Given the description of an element on the screen output the (x, y) to click on. 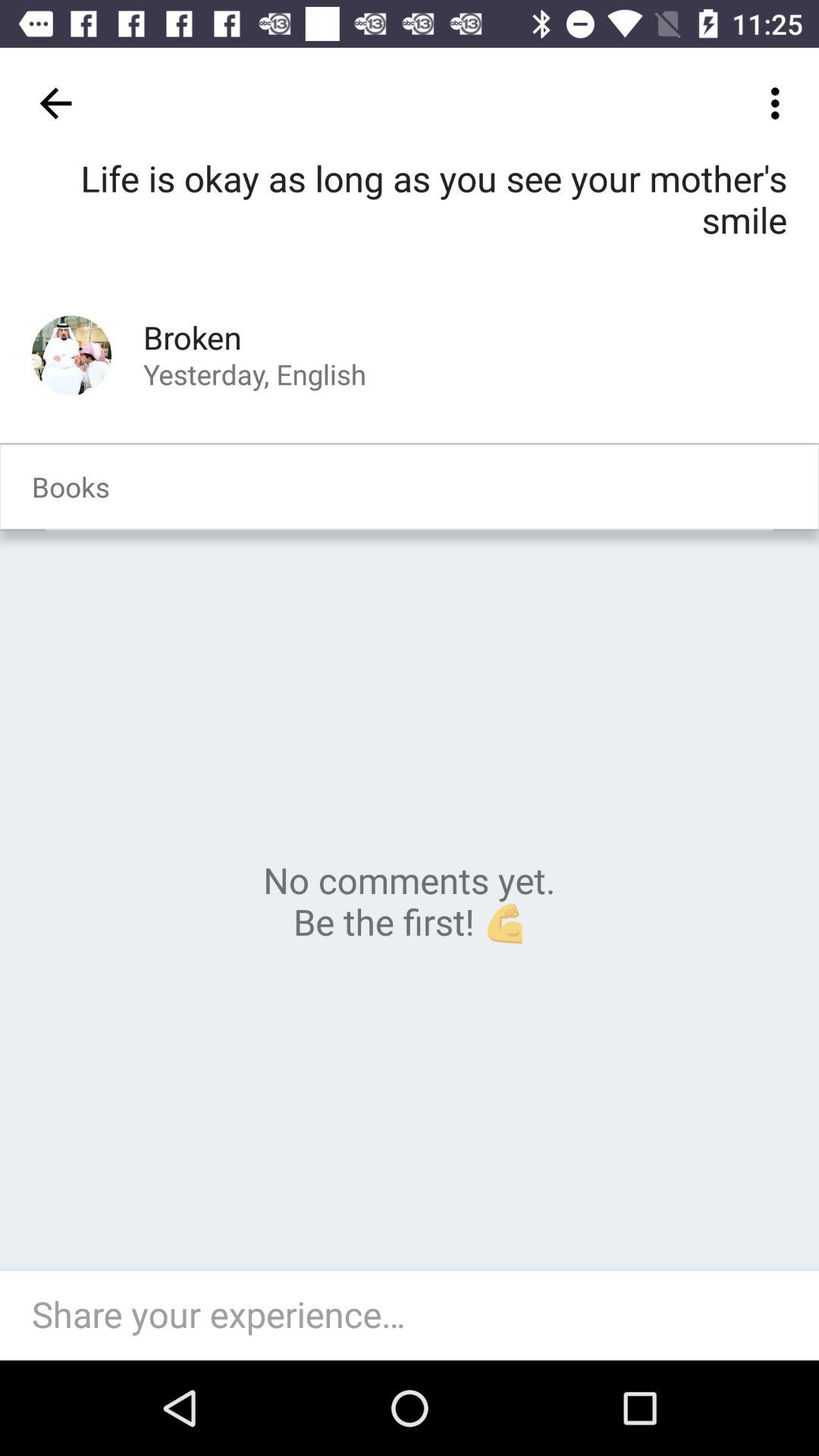
choose icon below the no comments yet icon (417, 1315)
